Given the description of an element on the screen output the (x, y) to click on. 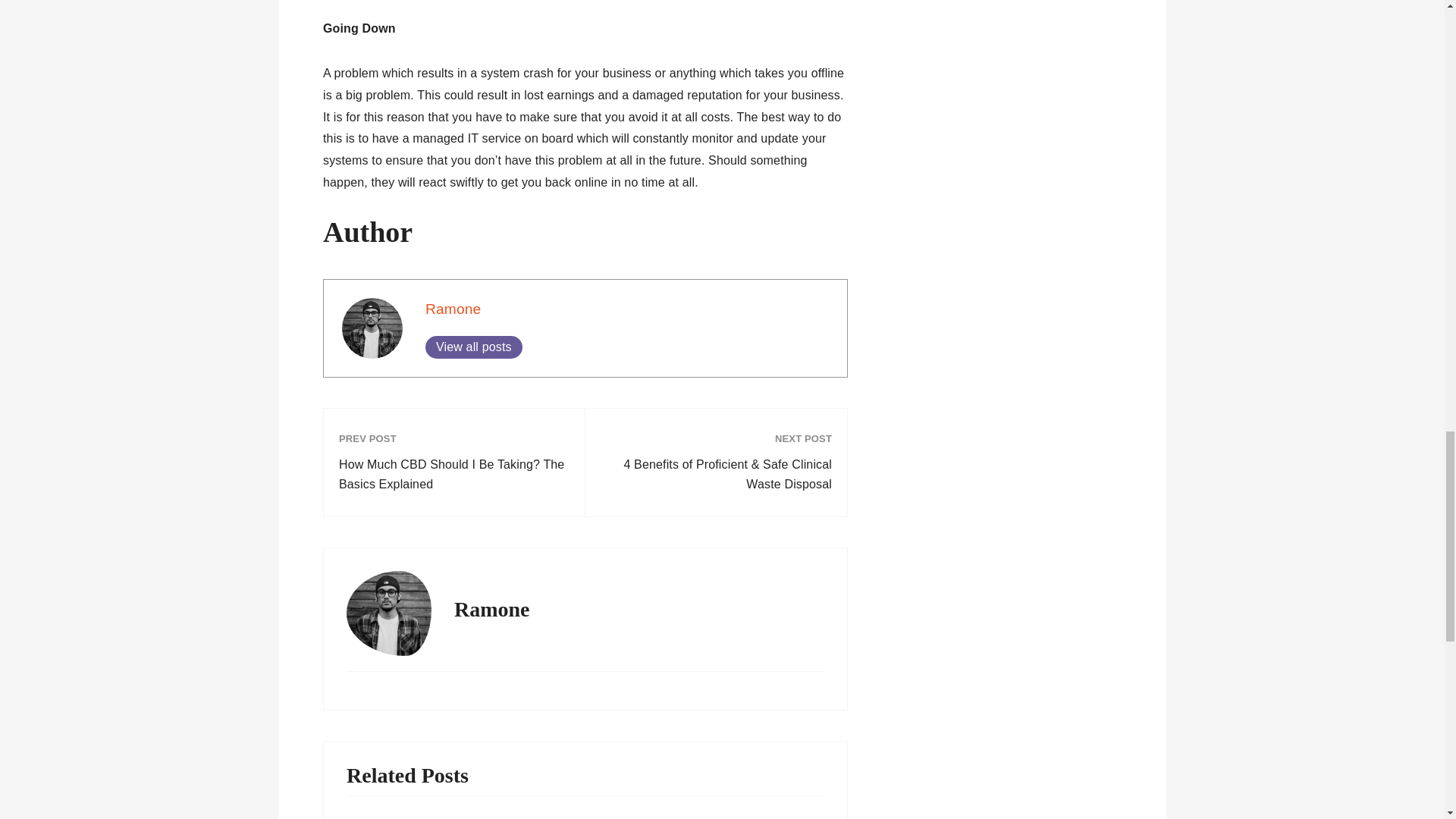
View all posts (473, 346)
How Much CBD Should I Be Taking? The Basics Explained (454, 474)
View all posts (473, 346)
Ramone (452, 308)
Ramone (452, 308)
